Given the description of an element on the screen output the (x, y) to click on. 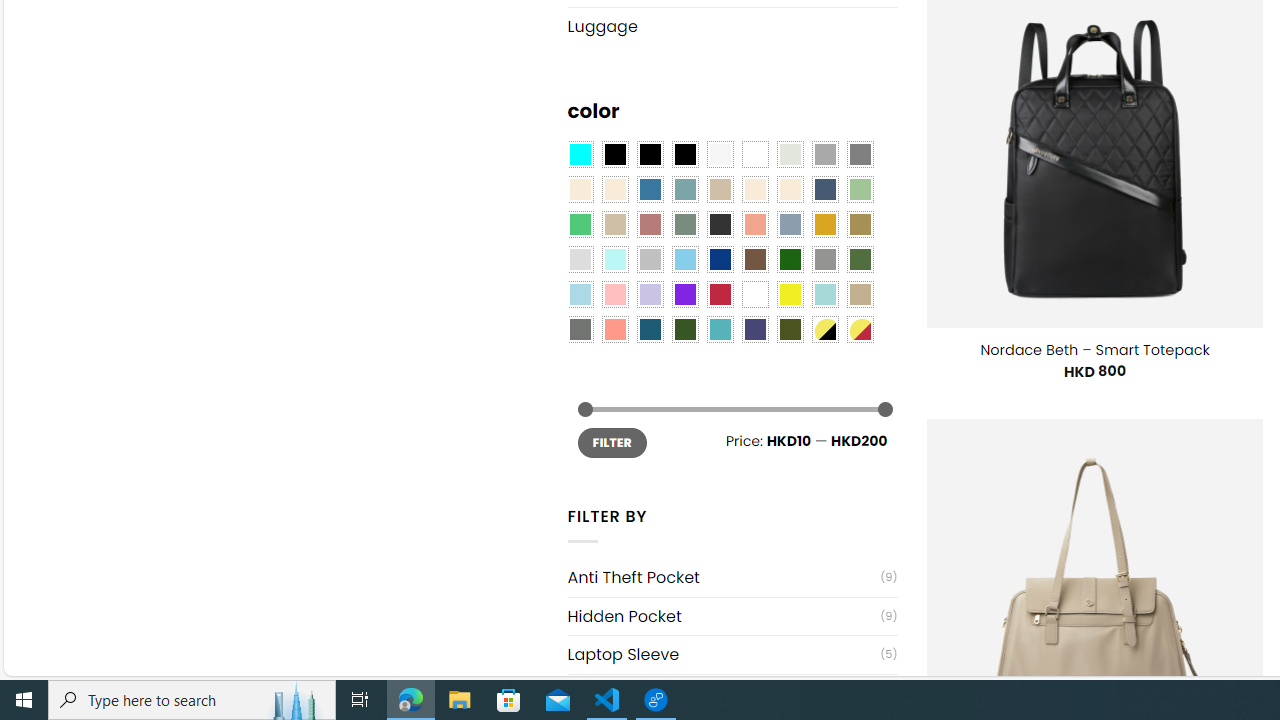
Pearly White (719, 154)
Luggage (732, 26)
Green (859, 259)
Silver (650, 259)
USB Charging Port (723, 693)
Gray (824, 259)
Ash Gray (789, 154)
Light Taupe (614, 224)
Blue (650, 190)
Anti Theft Pocket(9) (732, 577)
Clear (755, 154)
White (755, 295)
Army Green (789, 329)
Beige-Brown (614, 190)
Laptop Sleeve (723, 654)
